Given the description of an element on the screen output the (x, y) to click on. 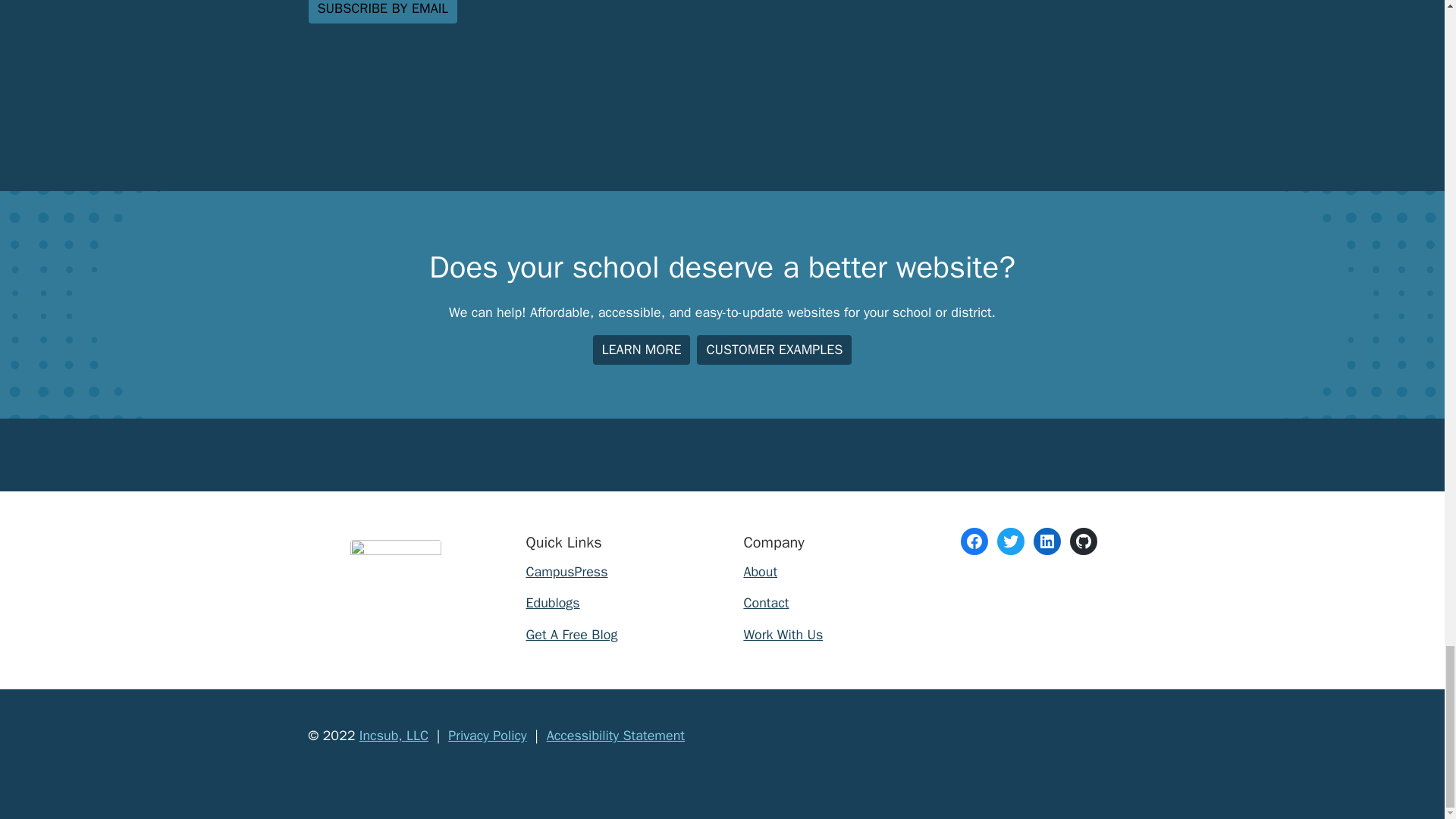
About (759, 571)
LinkedIn (1047, 541)
Edublogs (552, 602)
Get A Free Blog (571, 634)
Facebook (974, 541)
GitHub (1083, 541)
Twitter (1011, 541)
SUBSCRIBE BY EMAIL (382, 11)
LEARN MORE (641, 349)
Contact (765, 602)
CUSTOMER EXAMPLES (774, 349)
Work With Us (782, 634)
CampusPress (566, 571)
